Given the description of an element on the screen output the (x, y) to click on. 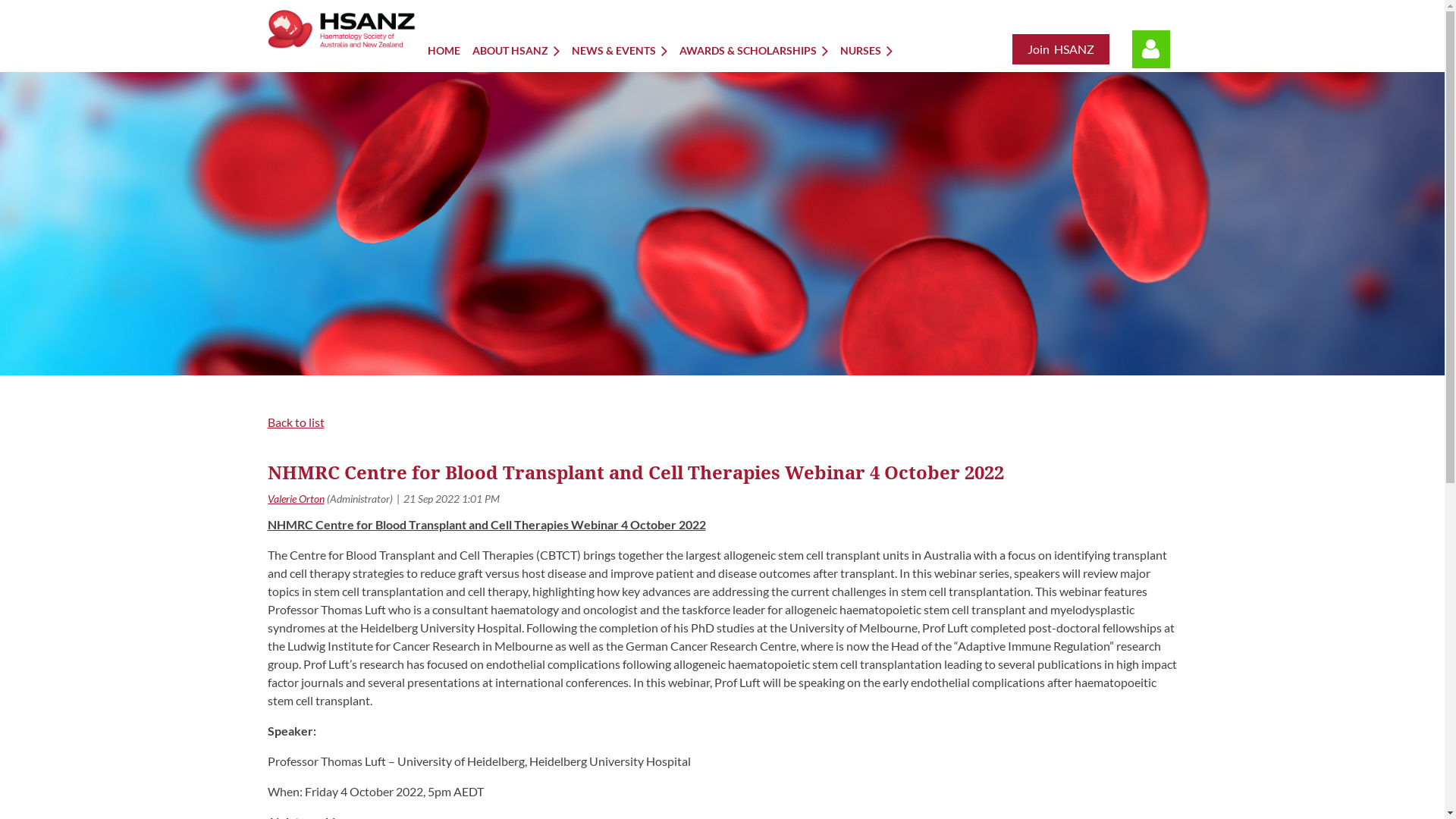
ABOUT HSANZ Element type: text (521, 50)
HOME Element type: text (449, 50)
NURSES Element type: text (872, 50)
NEWS & EVENTS Element type: text (625, 50)
Log in Element type: text (1151, 49)
Back to list Element type: text (294, 421)
AWARDS & SCHOLARSHIPS Element type: text (759, 50)
Join  HSANZ Element type: text (1060, 49)
Valerie Orton Element type: text (294, 498)
